Given the description of an element on the screen output the (x, y) to click on. 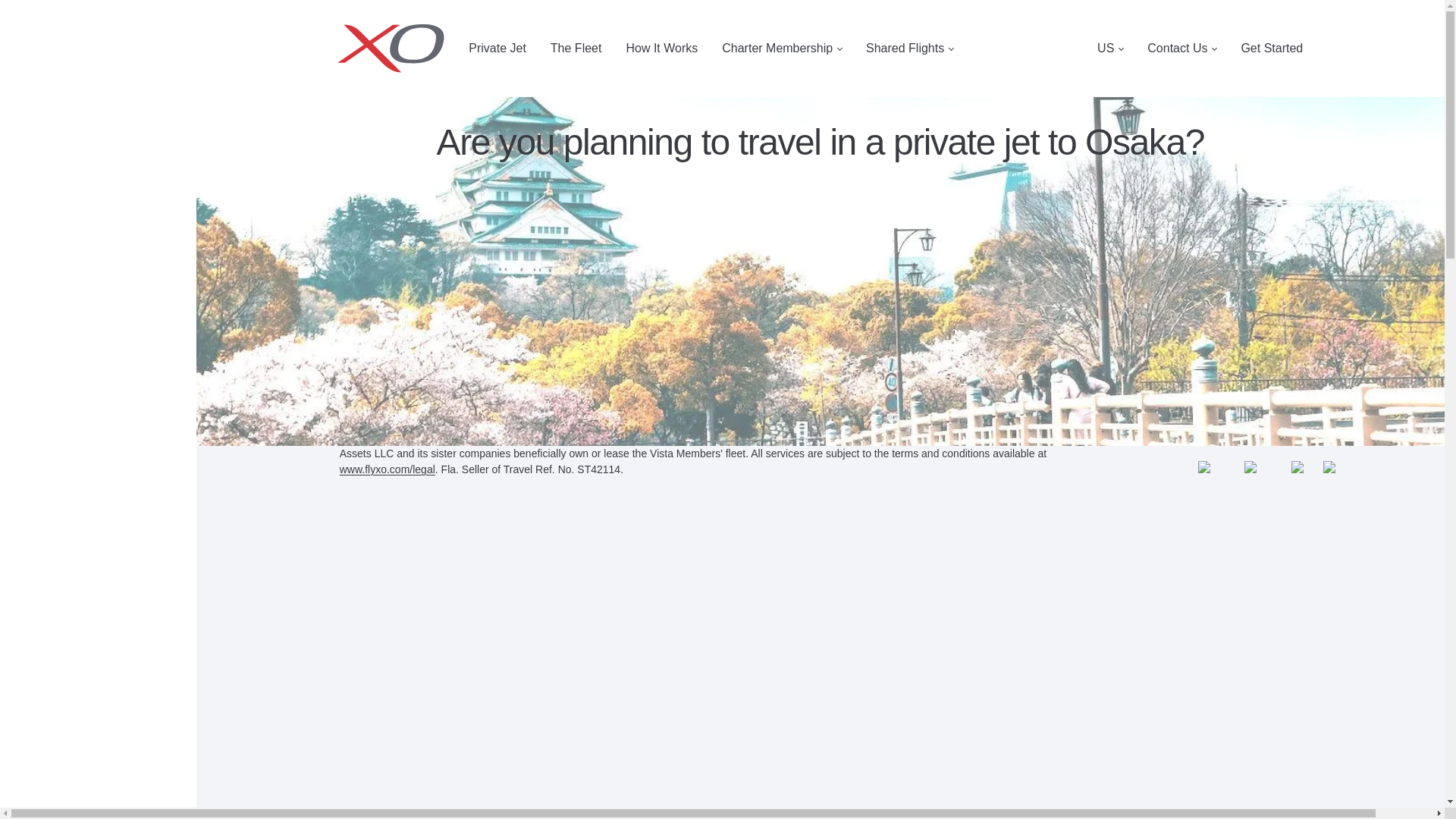
The Fleet (576, 48)
Current Jet Deals (380, 129)
Charter Membership (781, 48)
Register (358, 107)
US (1109, 48)
Download on the App Store (1099, 344)
GET IT ON Google Play (1234, 344)
The Fleet (576, 48)
Book a private jet with XO (397, 48)
New York - South Florida (398, 207)
